Given the description of an element on the screen output the (x, y) to click on. 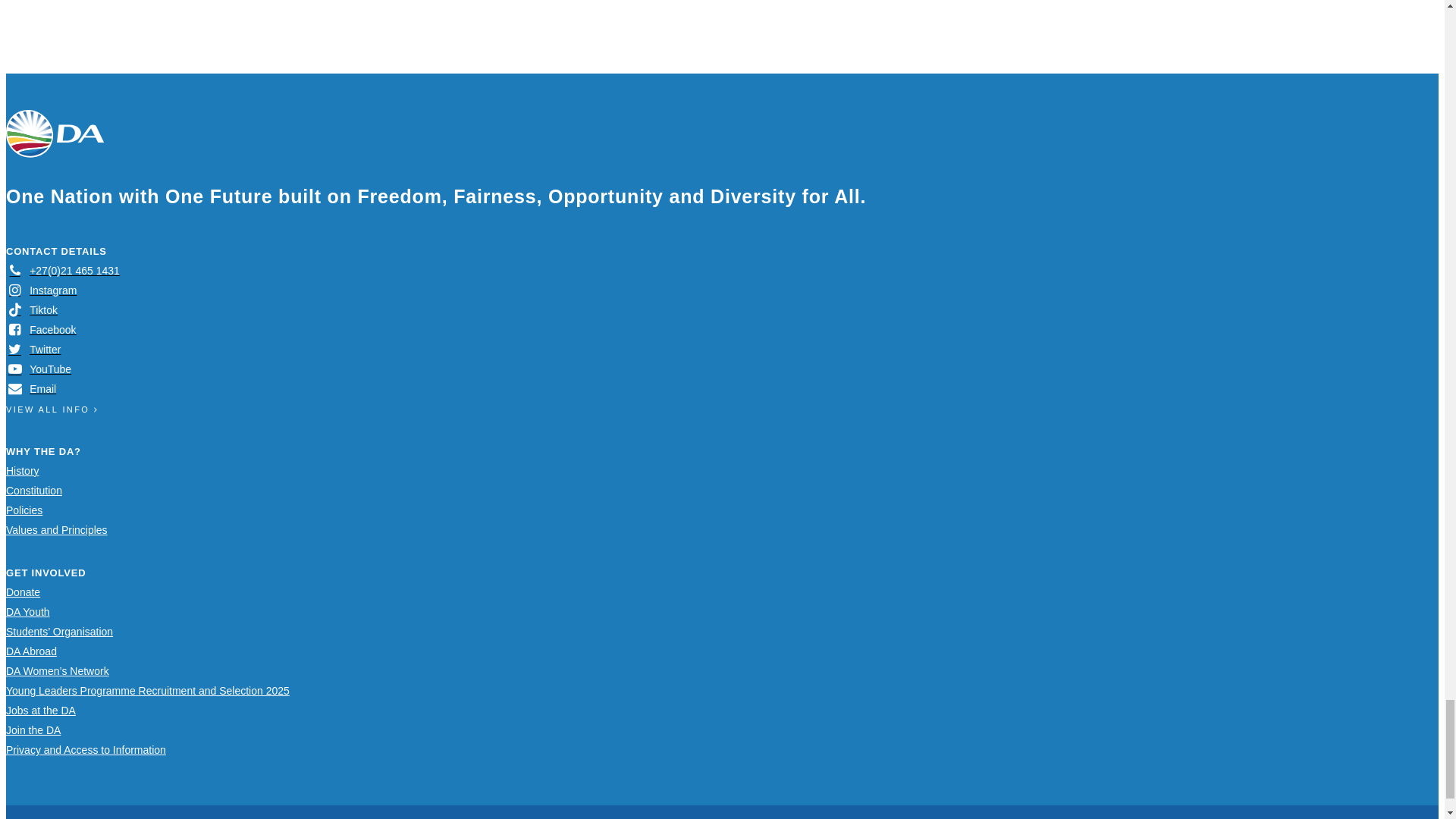
Democratic Alliance Logo (54, 133)
